Given the description of an element on the screen output the (x, y) to click on. 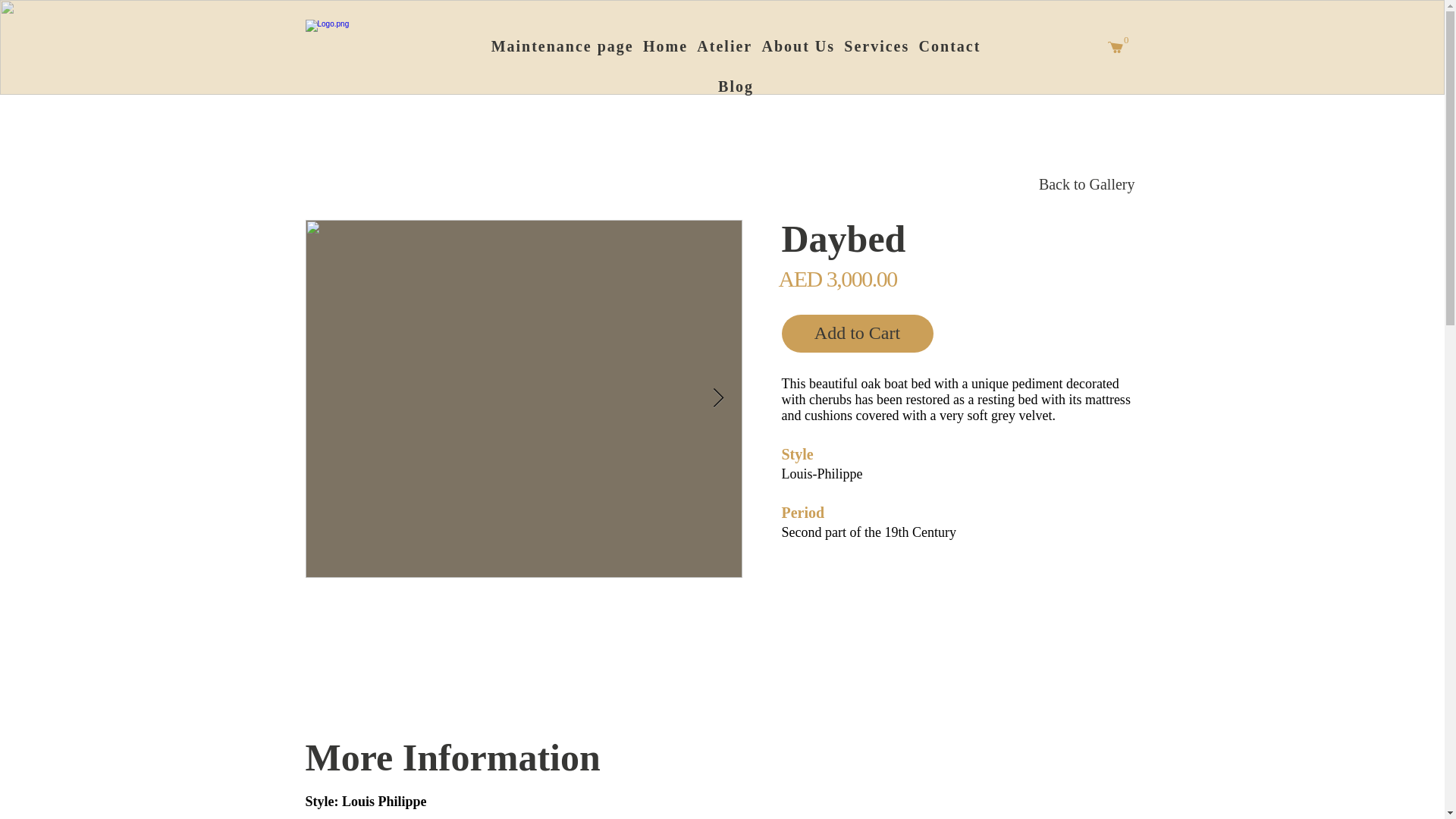
Home (665, 47)
About Us (797, 47)
Atelier (724, 47)
Services (876, 47)
Maintenance page (561, 47)
Contact (949, 47)
Blog (735, 87)
